Given the description of an element on the screen output the (x, y) to click on. 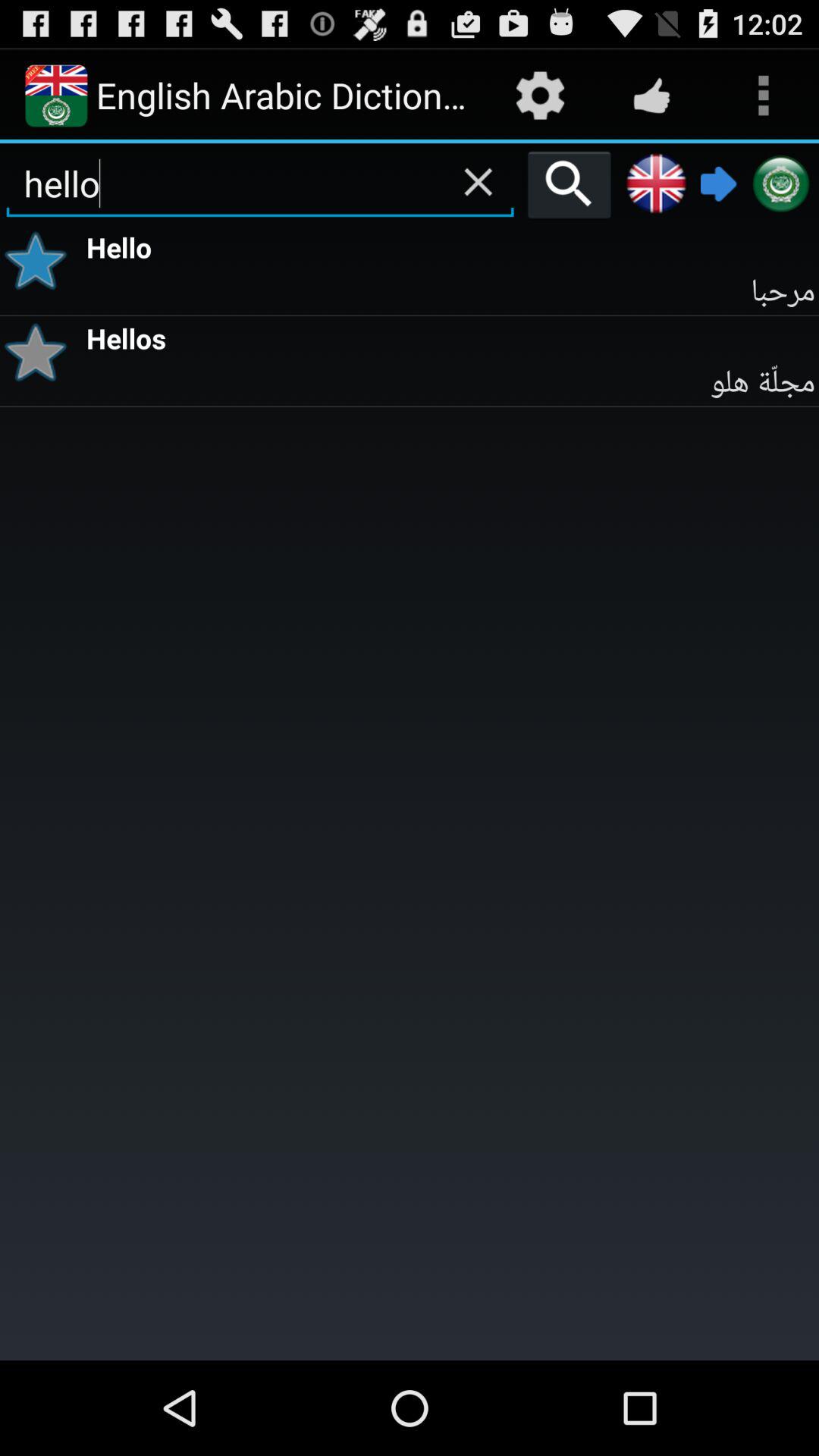
launch the icon above hello (478, 181)
